Given the description of an element on the screen output the (x, y) to click on. 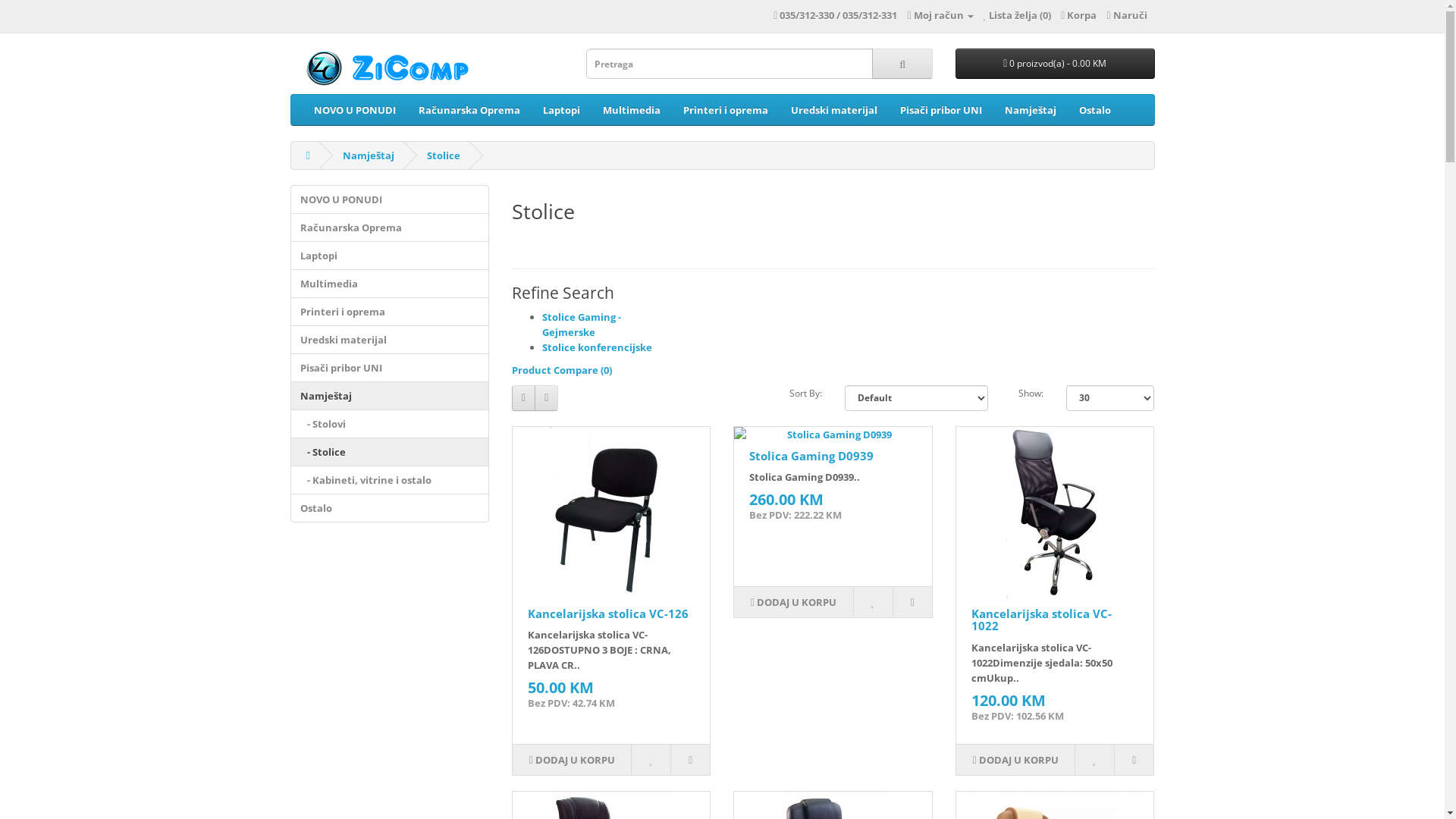
   - Kabineti, vitrine i ostalo Element type: text (389, 479)
   - Stolovi Element type: text (389, 423)
Laptopi Element type: text (560, 109)
Laptopi Element type: text (389, 255)
Ostalo Element type: text (389, 507)
Kancelarijska stolica VC-1022 Element type: hover (1054, 512)
ZiComp Element type: hover (390, 67)
Multimedia Element type: text (389, 283)
Ostalo Element type: text (1094, 109)
Stolica Gaming D0939 Element type: hover (832, 434)
Printeri i oprema Element type: text (389, 311)
NOVO U PONUDI Element type: text (389, 199)
Uredski materijal Element type: text (389, 339)
Stolice konferencijske Element type: text (597, 347)
Multimedia Element type: text (631, 109)
Product Compare (0) Element type: text (561, 369)
Printeri i oprema Element type: text (725, 109)
0 proizvod(a) - 0.00 KM Element type: text (1054, 63)
DODAJ U KORPU Element type: text (571, 759)
DODAJ U KORPU Element type: text (793, 601)
Stolice Element type: text (443, 155)
Kancelarijska stolica VC-126 Element type: text (607, 613)
Kancelarijska stolica VC-126 Element type: hover (610, 512)
DODAJ U KORPU Element type: text (1015, 759)
Korpa Element type: text (1078, 14)
Stolice Gaming - Gejmerske Element type: text (581, 324)
Kancelarijska stolica VC-1022 Element type: text (1041, 619)
NOVO U PONUDI Element type: text (353, 109)
   - Stolice Element type: text (389, 451)
Uredski materijal Element type: text (833, 109)
Stolica Gaming D0939 Element type: text (811, 455)
